Given the description of an element on the screen output the (x, y) to click on. 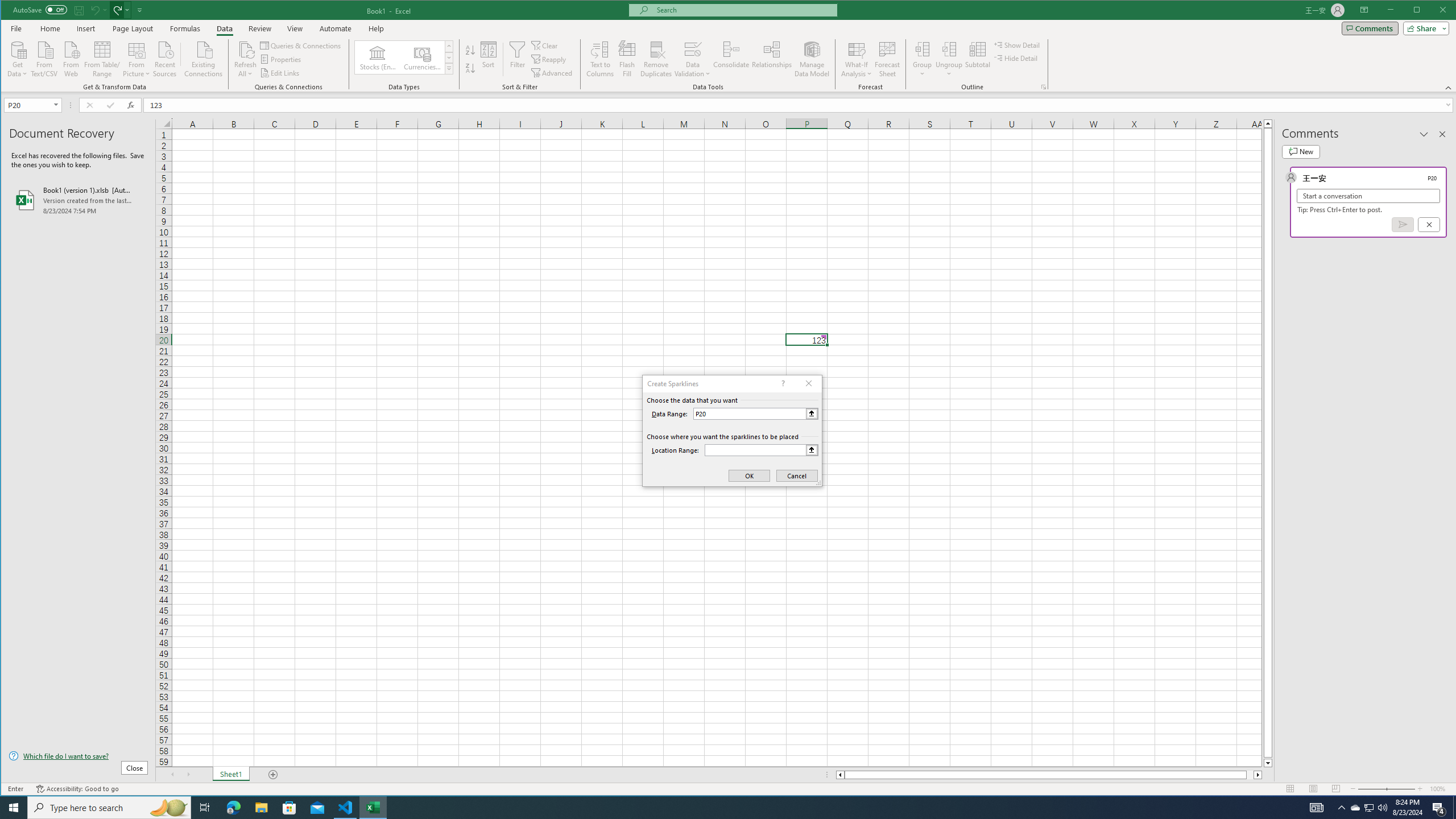
Show Detail (1017, 44)
Manage Data Model (812, 59)
